Given the description of an element on the screen output the (x, y) to click on. 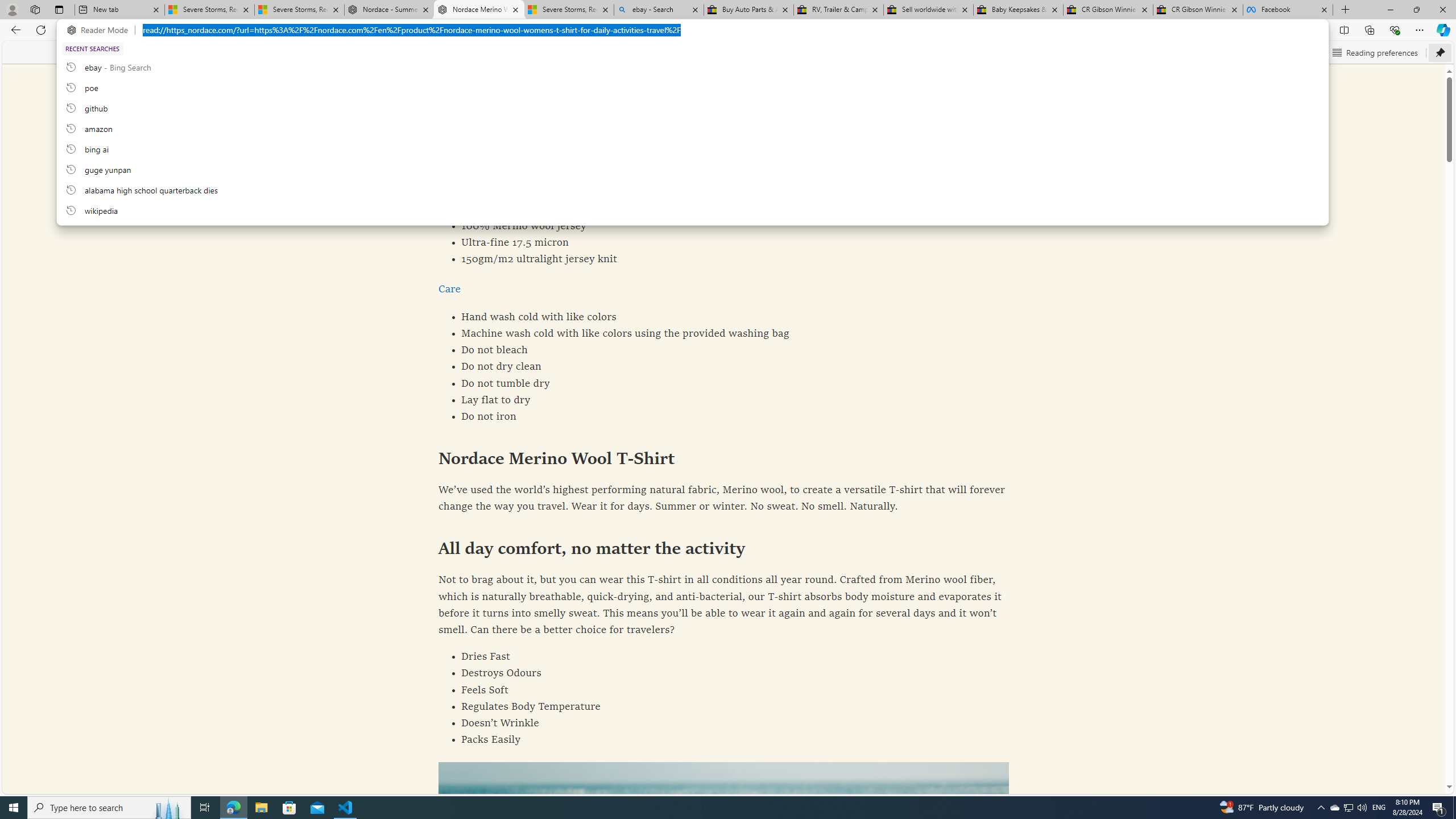
Packs Easily (724, 740)
RV, Trailer & Camper Steps & Ladders for sale | eBay (838, 9)
github, recent searches from history (691, 107)
100% Merino wool jersey (724, 226)
amazon, recent searches from history (691, 127)
Ultra-fine 17.5 micron (724, 242)
ebay, recent searches from history (691, 66)
Do not tumble dry (724, 383)
